Given the description of an element on the screen output the (x, y) to click on. 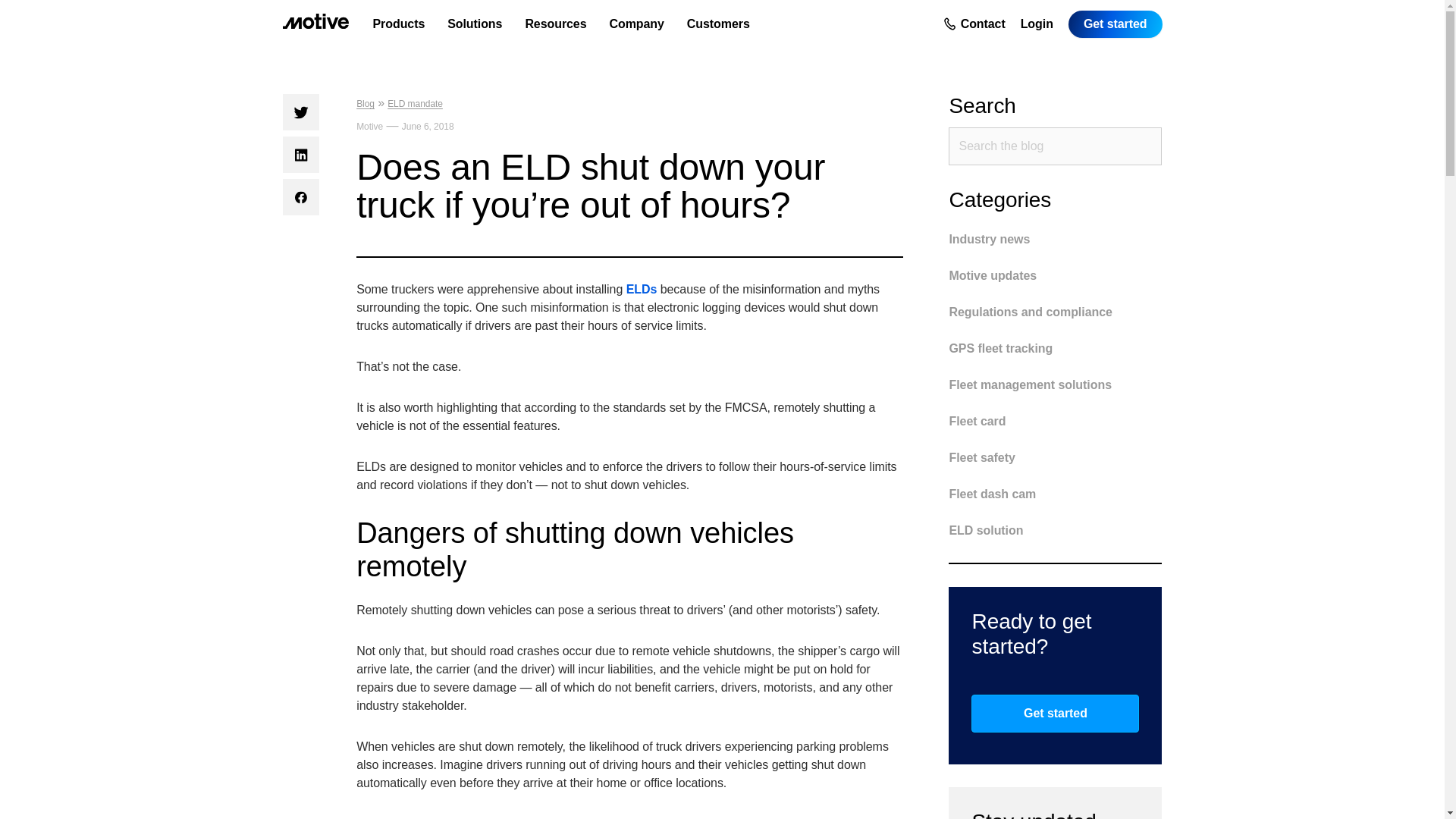
share to Facebook (300, 197)
share to LinkedIn (300, 154)
share to Twitter (300, 112)
